Given the description of an element on the screen output the (x, y) to click on. 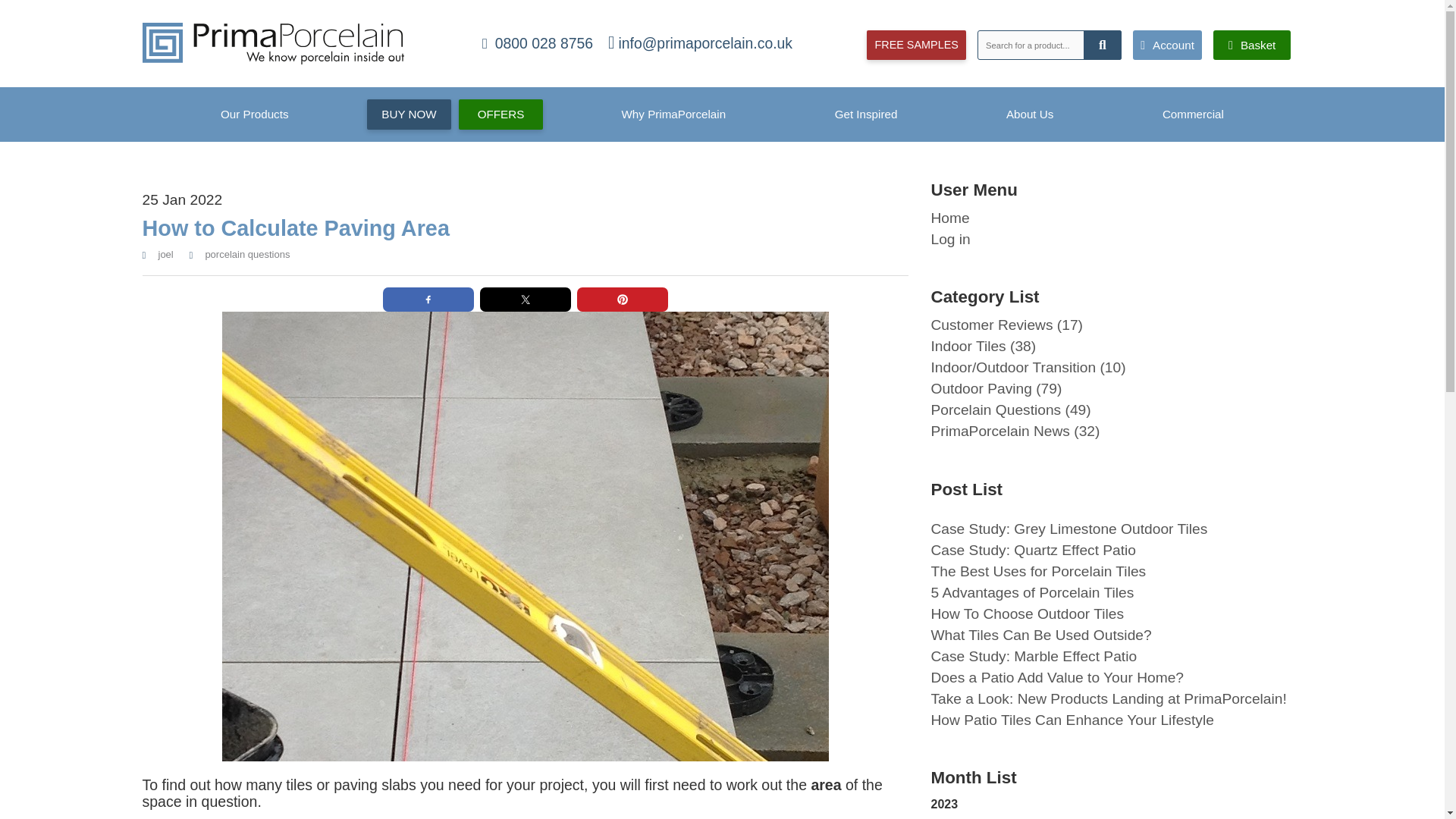
Our Products (254, 113)
Account (1167, 44)
FREE SAMPLES (915, 44)
Basket (1251, 44)
Account (1167, 44)
FREE SAMPLES (915, 44)
